Given the description of an element on the screen output the (x, y) to click on. 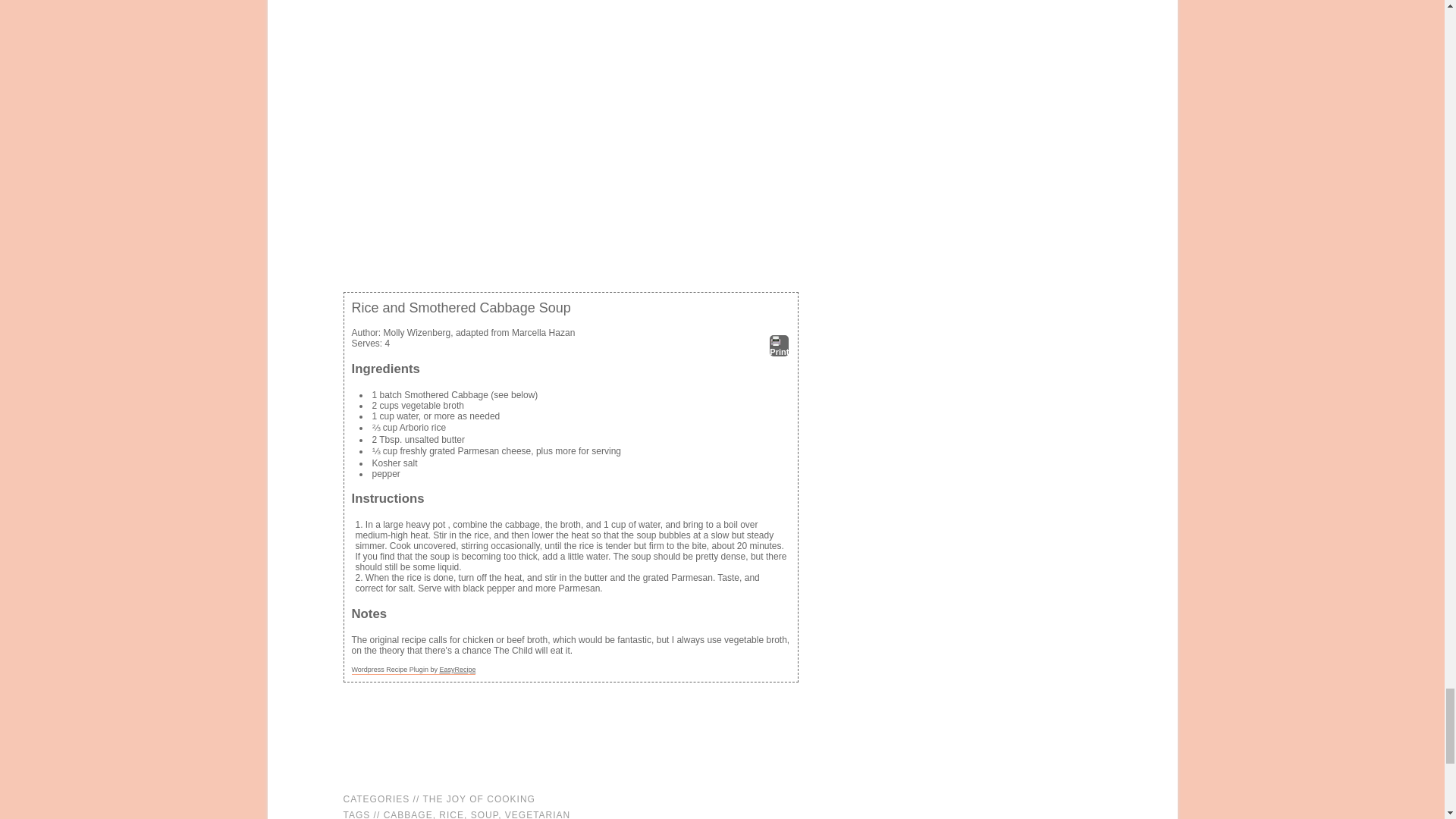
EasyRecipe Wordpress Recipe Plugin (414, 669)
